Given the description of an element on the screen output the (x, y) to click on. 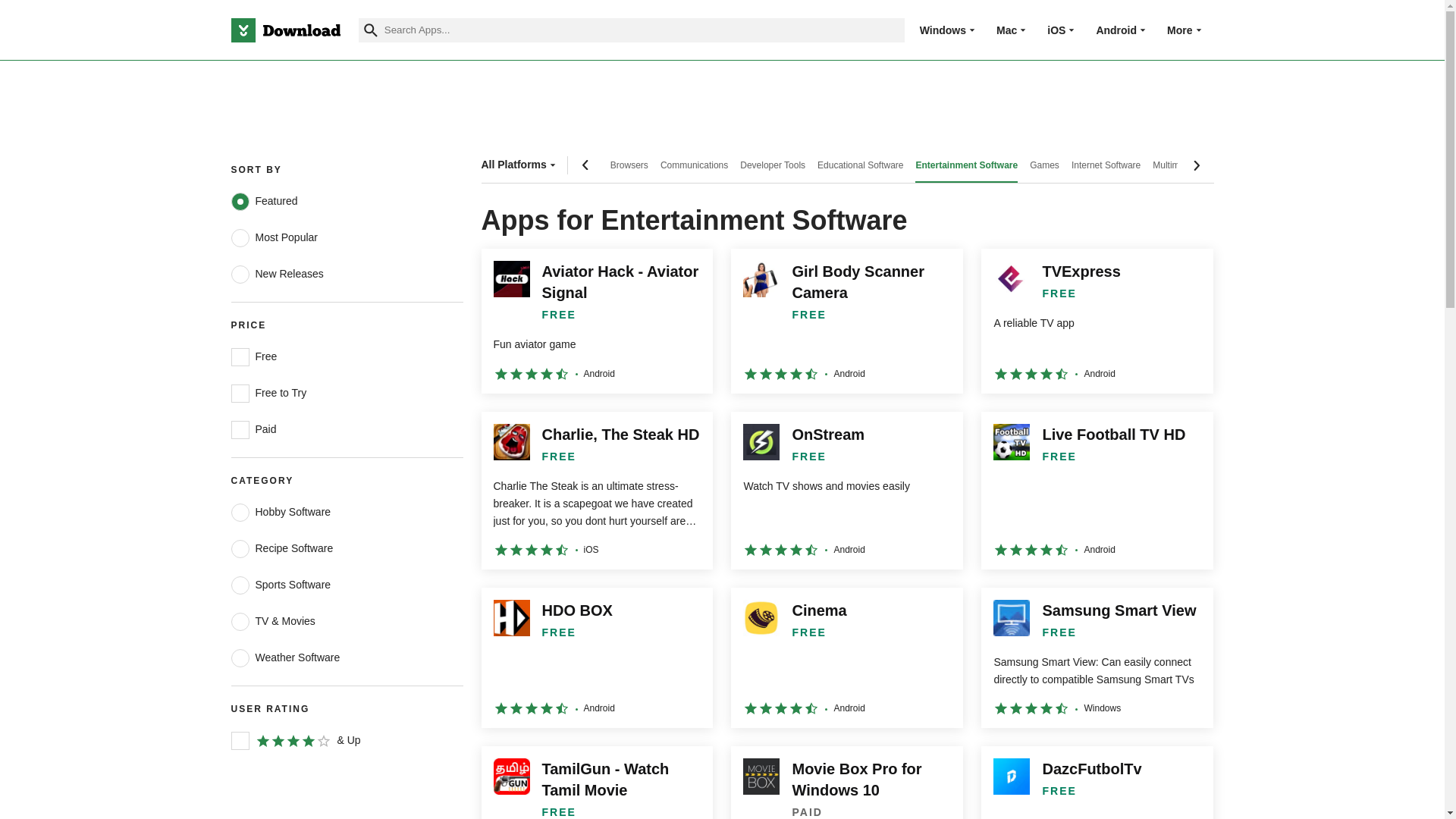
Mac (1005, 29)
entertainment-tv-movies (239, 621)
Windows (943, 29)
4up (239, 741)
newReleases (239, 274)
freeToTry (239, 393)
Charlie, The Steak HD (596, 490)
OnStream (846, 490)
home-weather (239, 658)
entertainment-sports (239, 585)
Aviator Hack - Aviator Signal (596, 320)
DazcFutbolTv (1096, 782)
mostPopular (239, 238)
Live Football TV HD (1096, 490)
paid (239, 429)
